Given the description of an element on the screen output the (x, y) to click on. 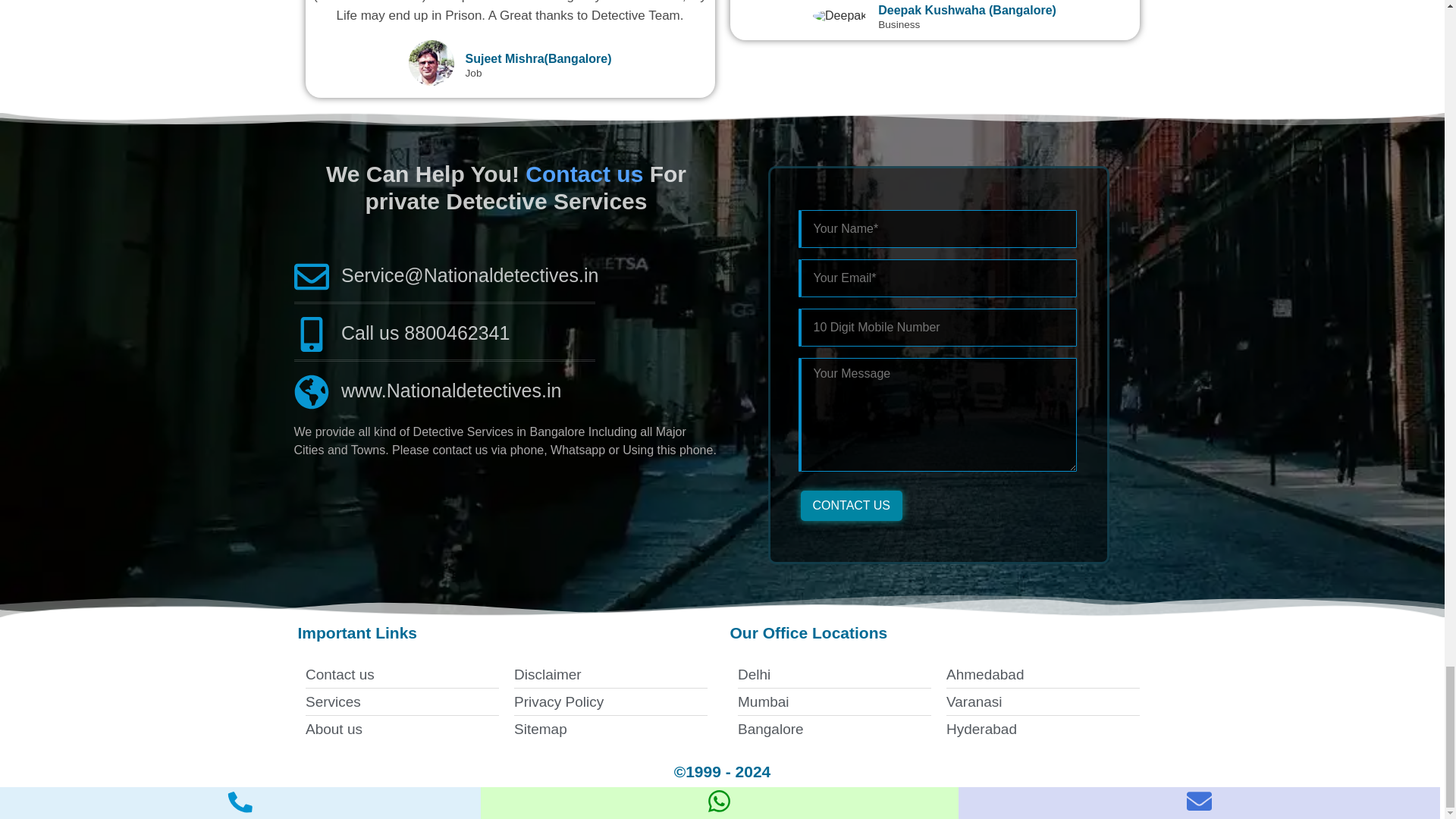
Varanasi (1043, 702)
Hyderabad (1043, 729)
Mumbai (833, 702)
Services (400, 702)
CONTACT US (851, 505)
Bangalore (833, 729)
Sitemap (610, 729)
CONTACT US (851, 505)
Disclaimer (610, 674)
Contact us (400, 674)
